Given the description of an element on the screen output the (x, y) to click on. 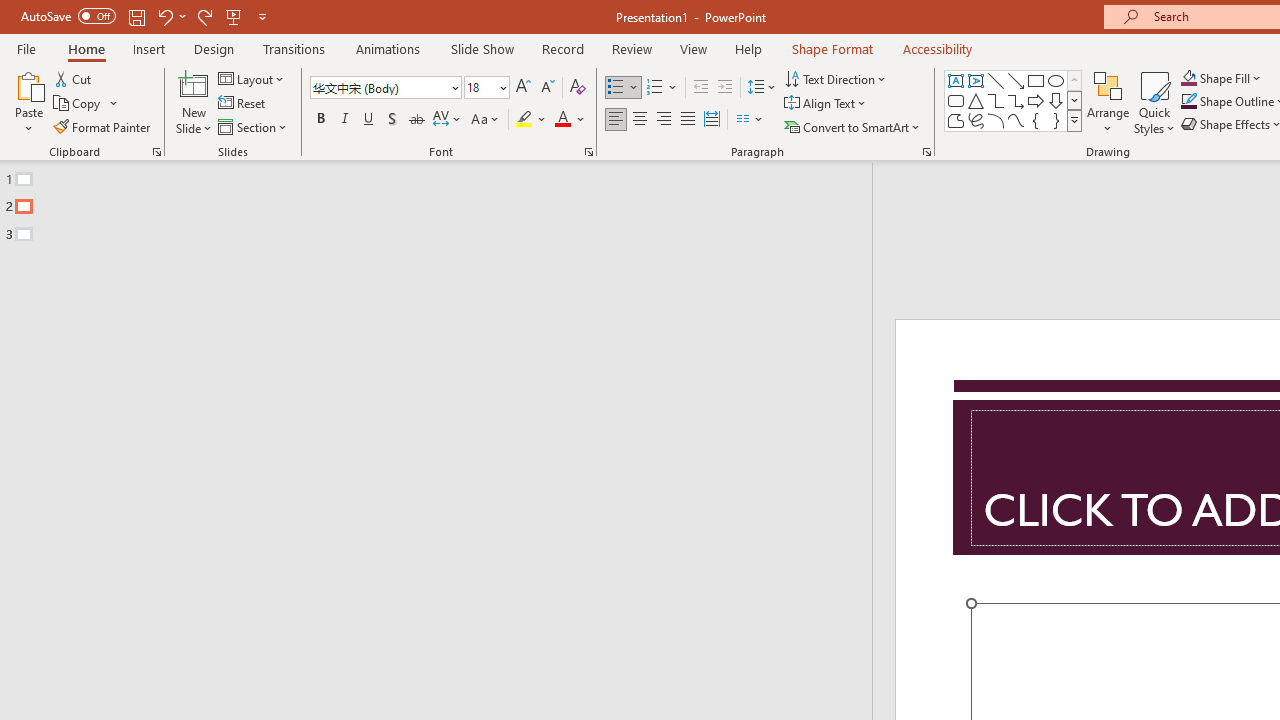
Outline (445, 202)
